Given the description of an element on the screen output the (x, y) to click on. 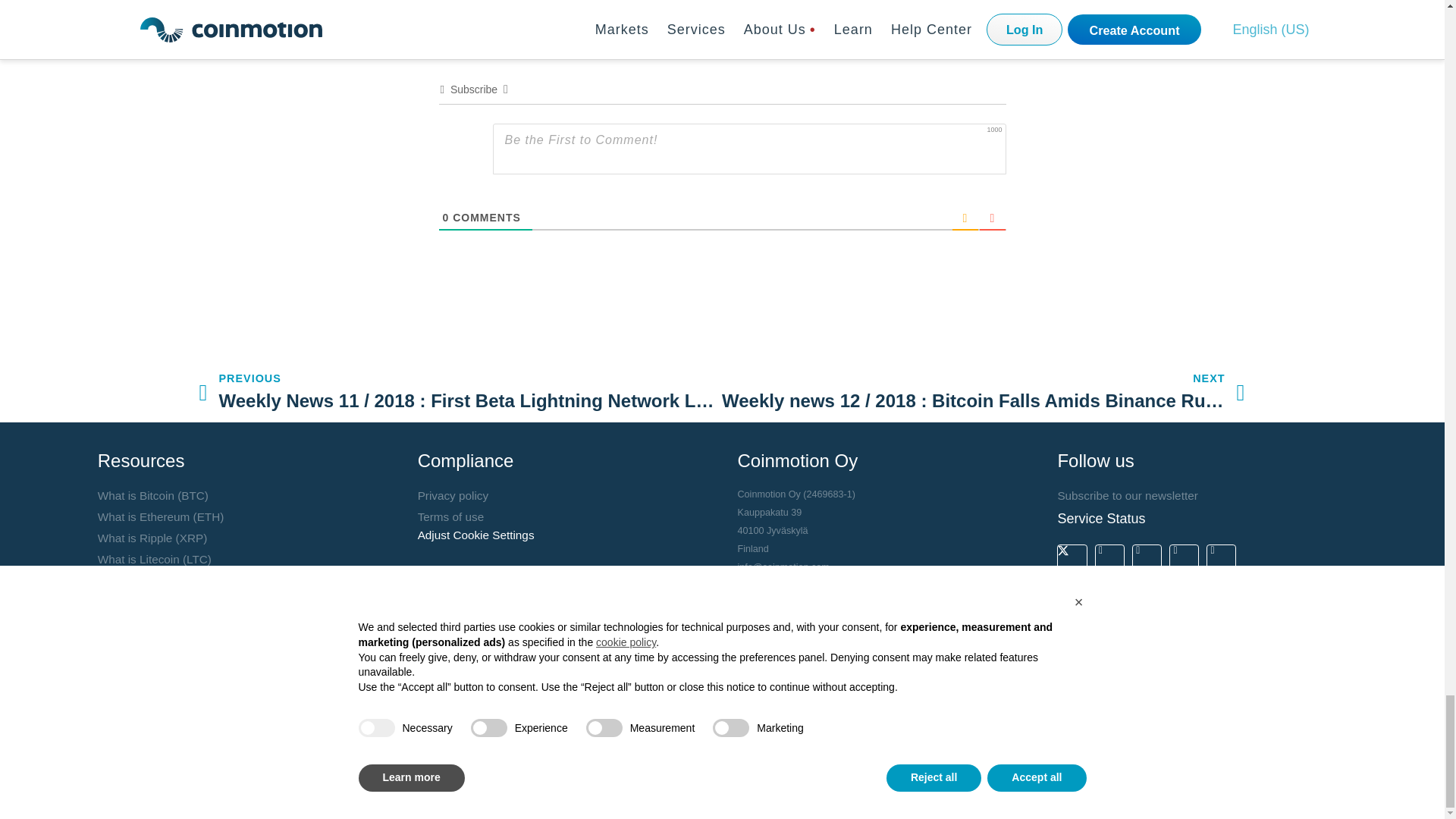
0 (445, 217)
